Given the description of an element on the screen output the (x, y) to click on. 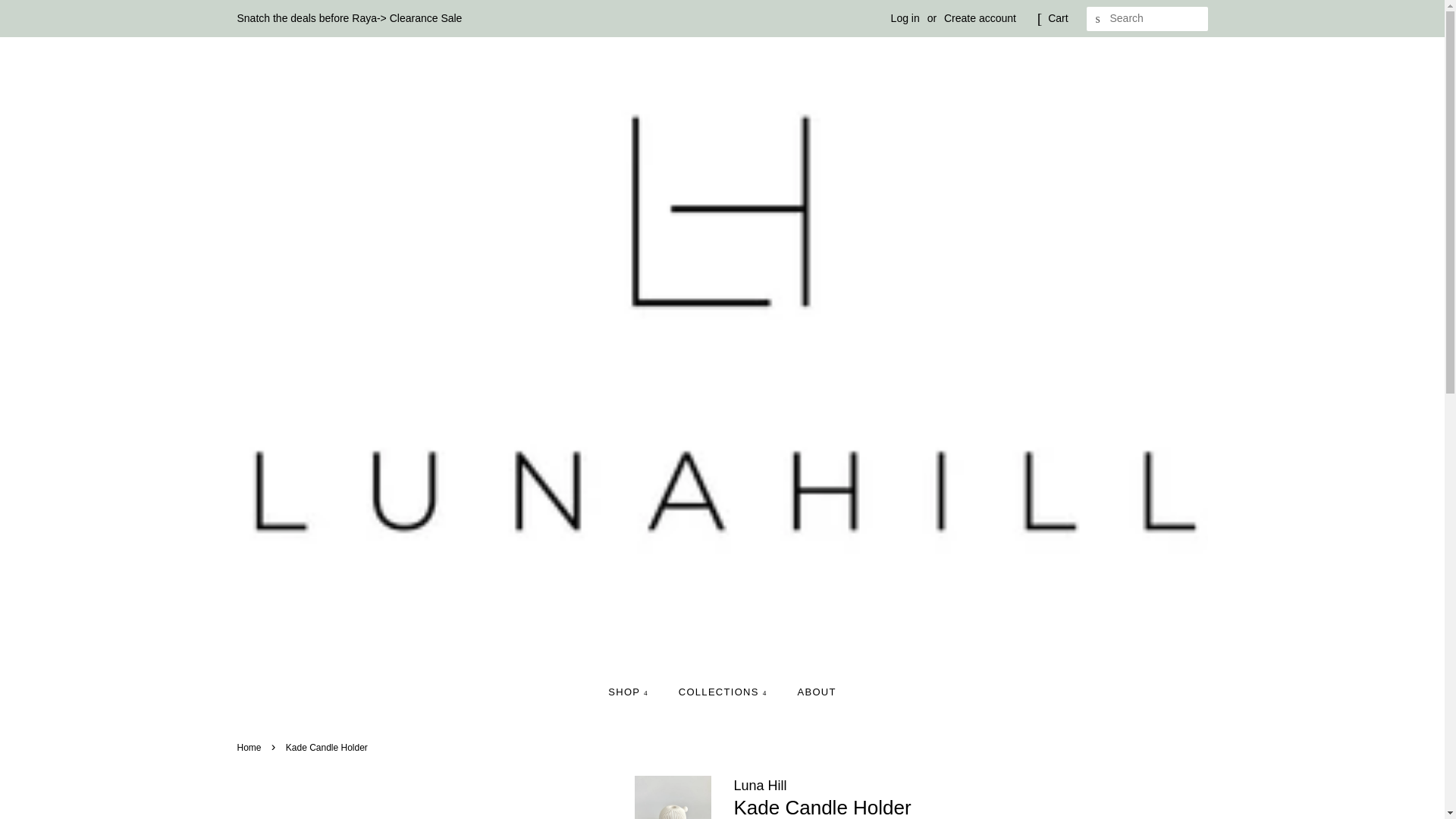
SHOP (635, 691)
Create account (979, 18)
Log in (905, 18)
SEARCH (1097, 18)
Back to the frontpage (249, 747)
Cart (1057, 18)
